Given the description of an element on the screen output the (x, y) to click on. 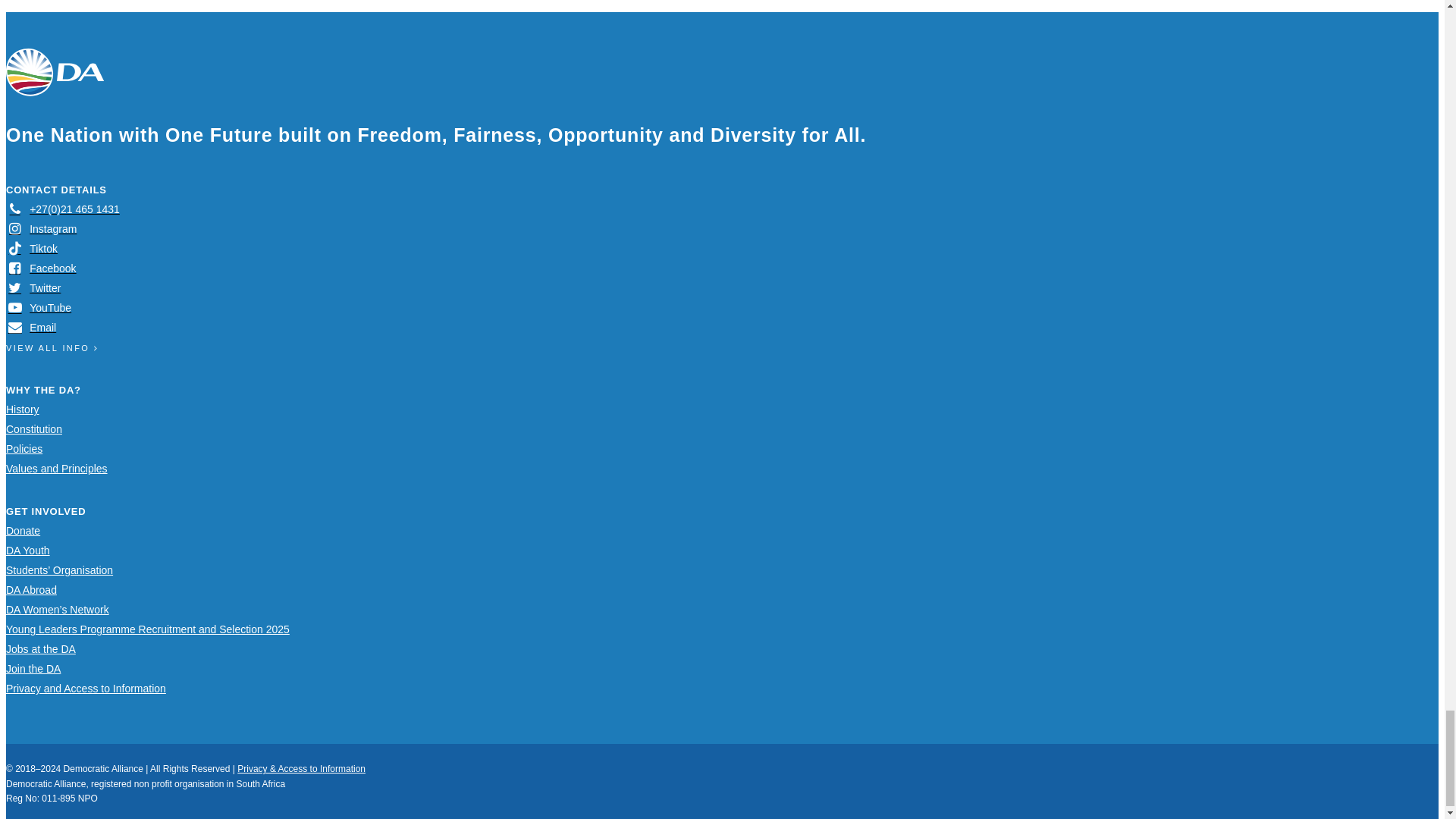
Democratic Alliance Logo (54, 72)
